Given the description of an element on the screen output the (x, y) to click on. 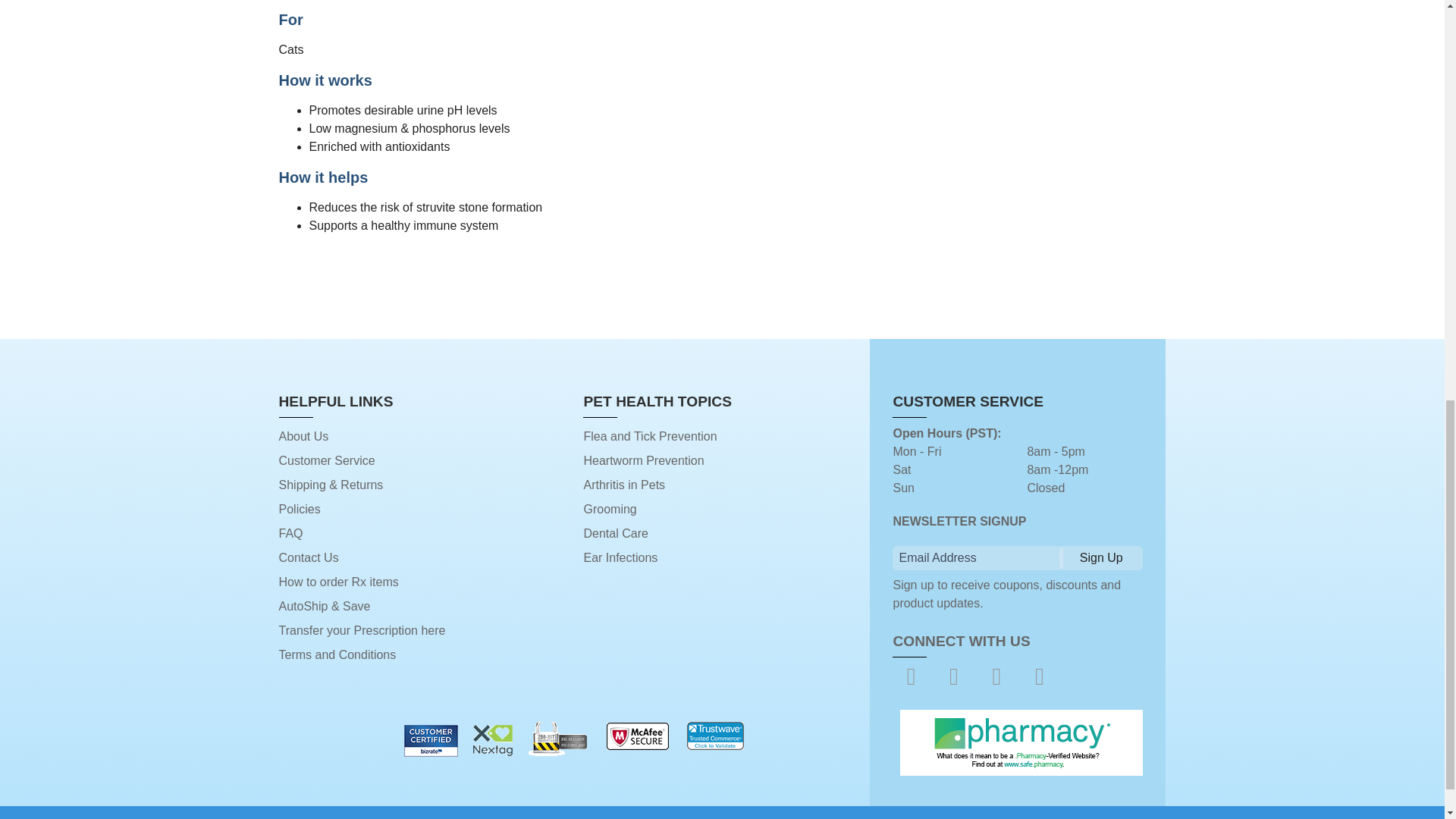
Sign Up (1100, 558)
Sign Up (1100, 558)
Facebook (910, 676)
YouTube (996, 676)
Twitter (954, 676)
